Given the description of an element on the screen output the (x, y) to click on. 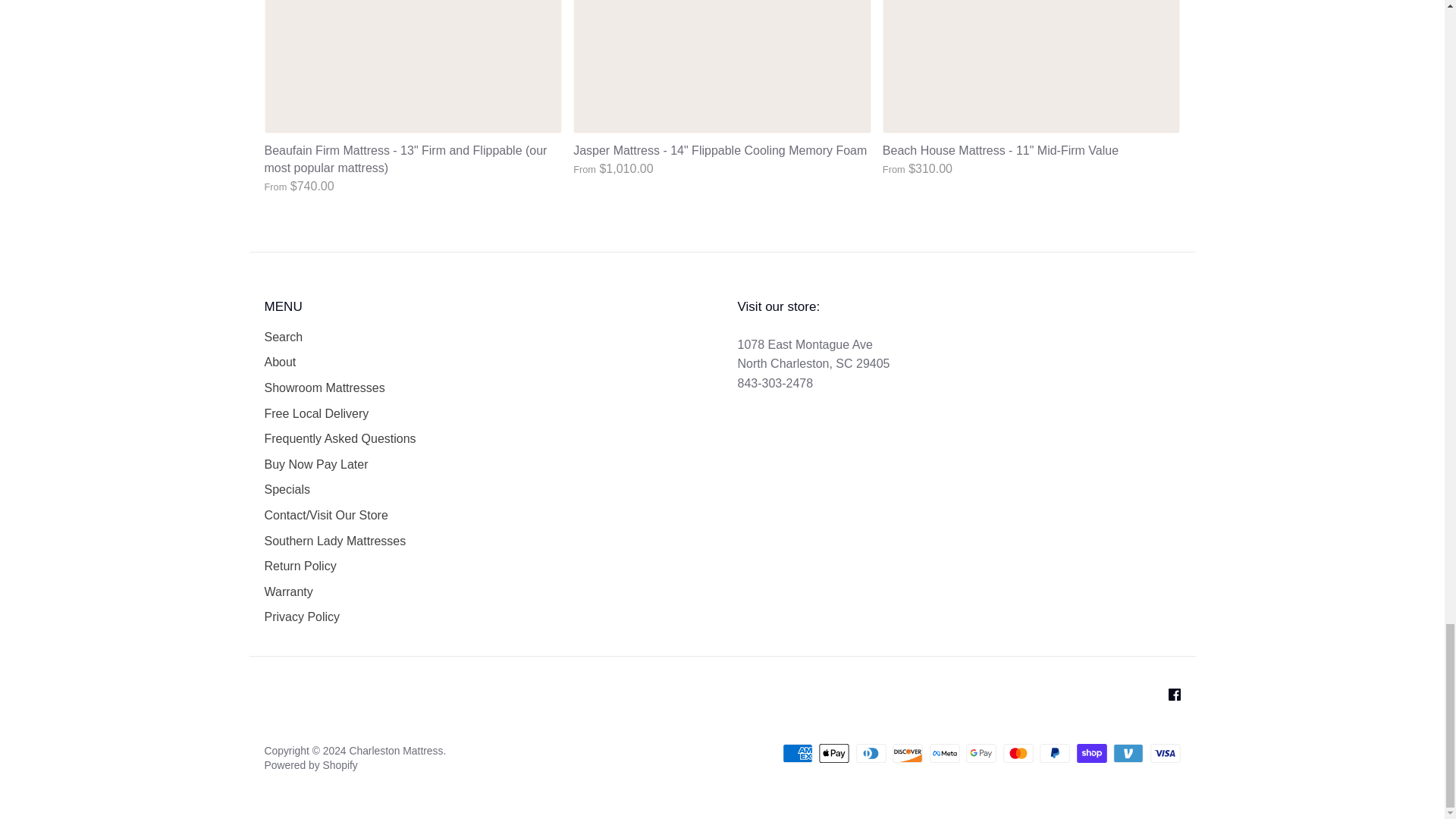
Free Local Delivery (315, 414)
Shop Pay (1091, 752)
Search (282, 337)
Showroom Mattresses (323, 388)
Meta Pay (944, 752)
Visa (1164, 752)
About (279, 362)
Discover (907, 752)
Google Pay (980, 752)
Apple Pay (833, 752)
